Given the description of an element on the screen output the (x, y) to click on. 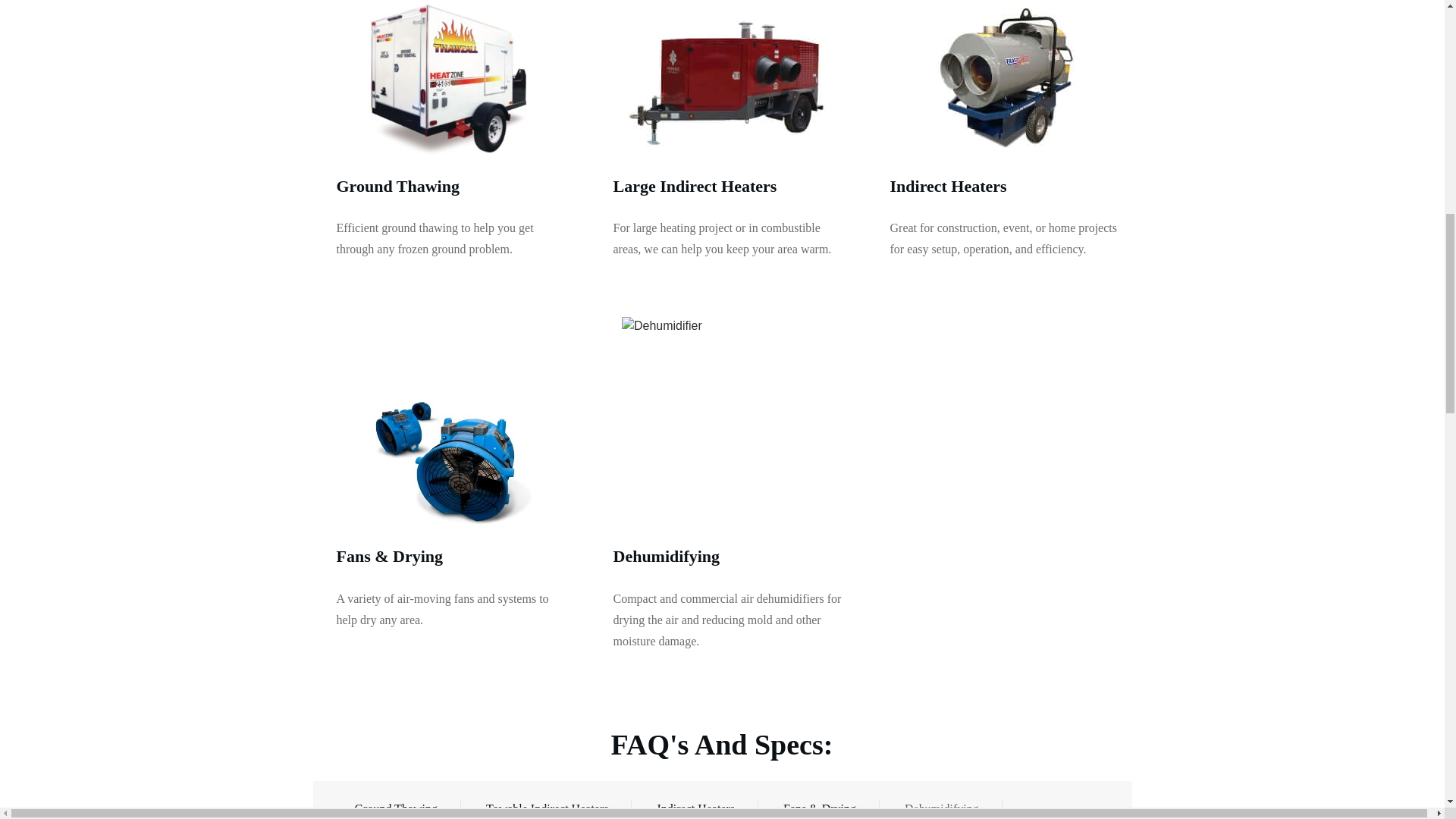
Floor fans icon real (451, 422)
insero towable heater icon real (727, 79)
frostfighter indirect heater icon real (1004, 79)
dehumidifier icon real (727, 422)
ground thaw icon real (451, 79)
